Given the description of an element on the screen output the (x, y) to click on. 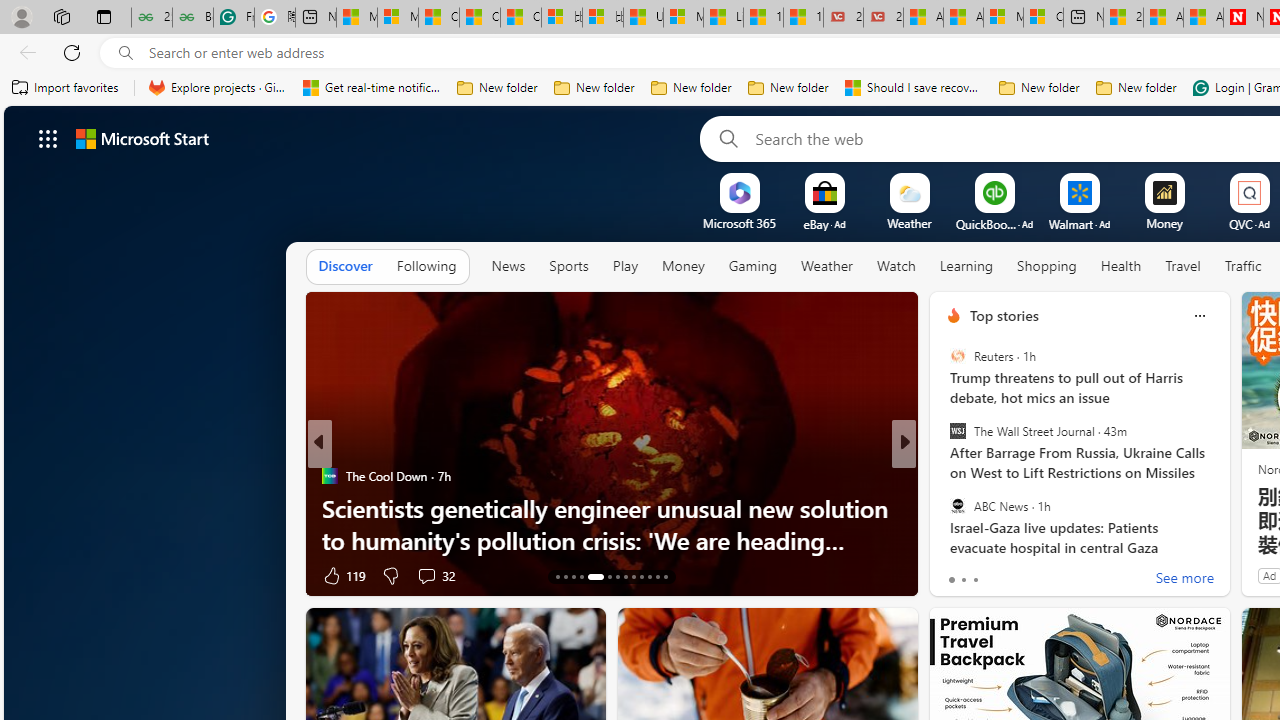
View comments 413 Comment (1042, 575)
AutomationID: tab-21 (632, 576)
Lovefood (944, 507)
Lifestyle - MSN (723, 17)
AutomationID: tab-20 (624, 576)
